Given the description of an element on the screen output the (x, y) to click on. 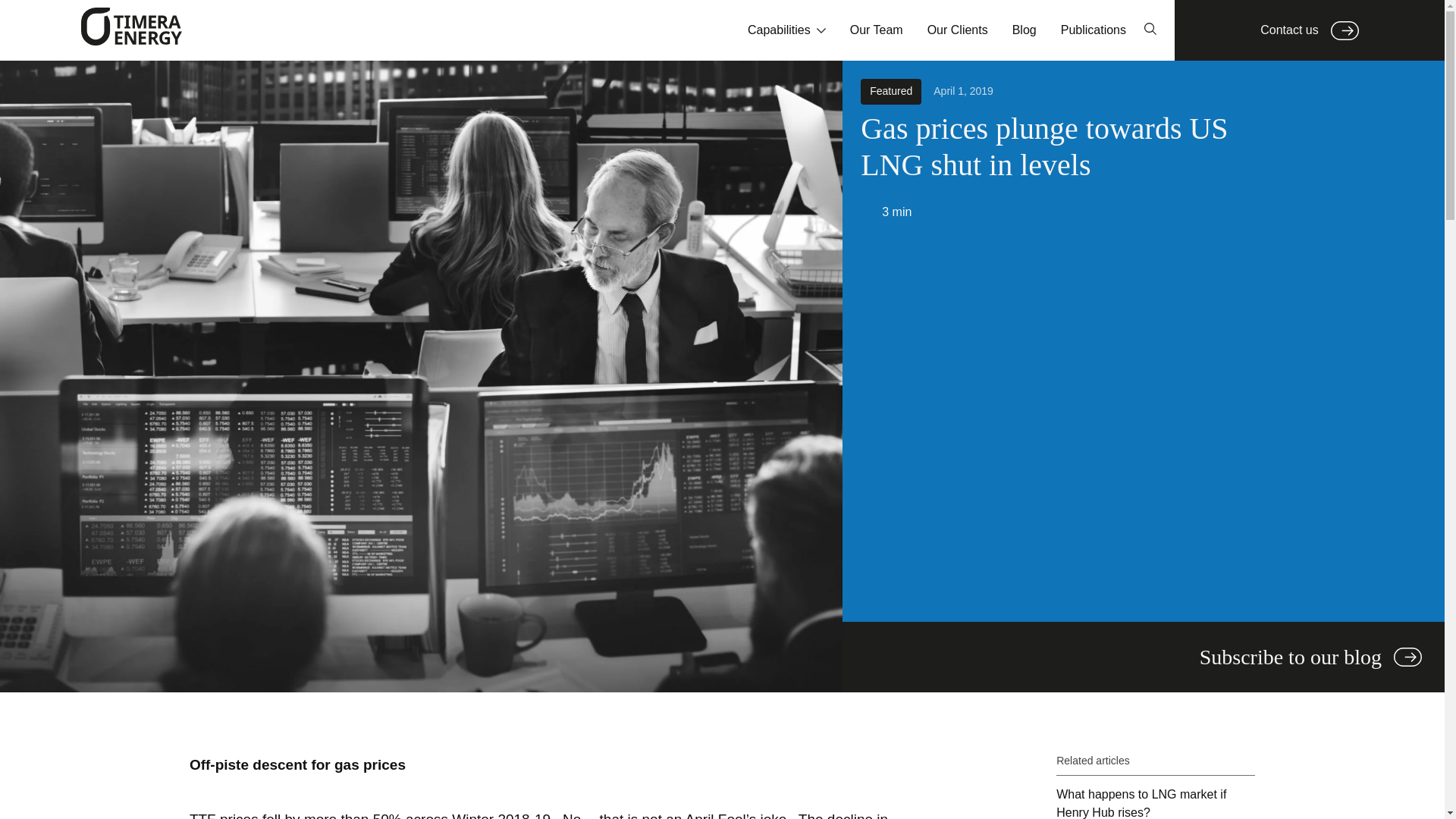
Our Clients (957, 30)
Publications (1093, 30)
What happens to LNG market if Henry Hub rises? (1156, 802)
Capabilities (786, 30)
